Given the description of an element on the screen output the (x, y) to click on. 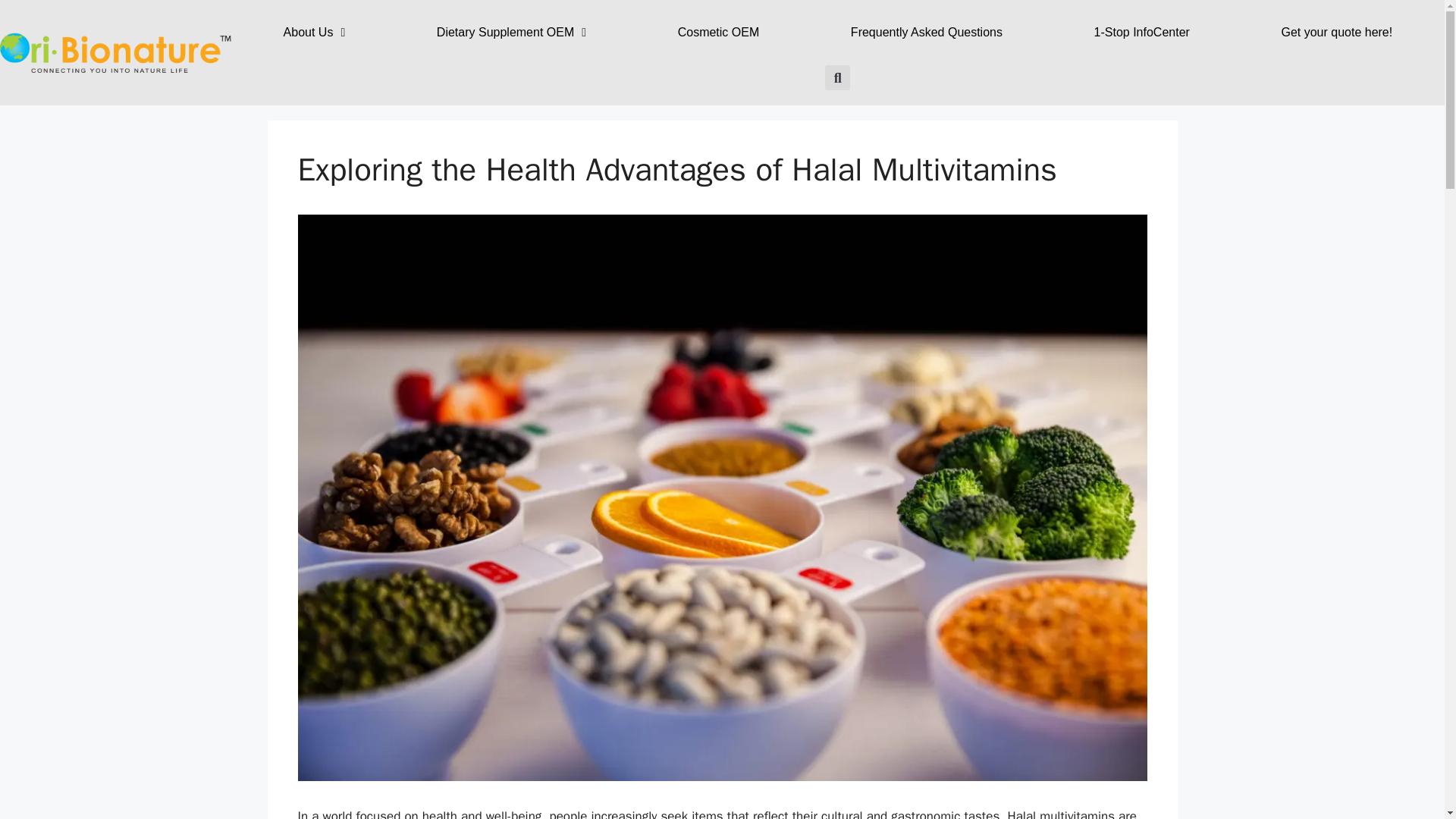
Dietary Supplement OEM (510, 32)
1-Stop InfoCenter (1141, 32)
Frequently Asked Questions (926, 32)
Cosmetic OEM (718, 32)
Get your quote here! (1336, 32)
About Us (314, 32)
